Given the description of an element on the screen output the (x, y) to click on. 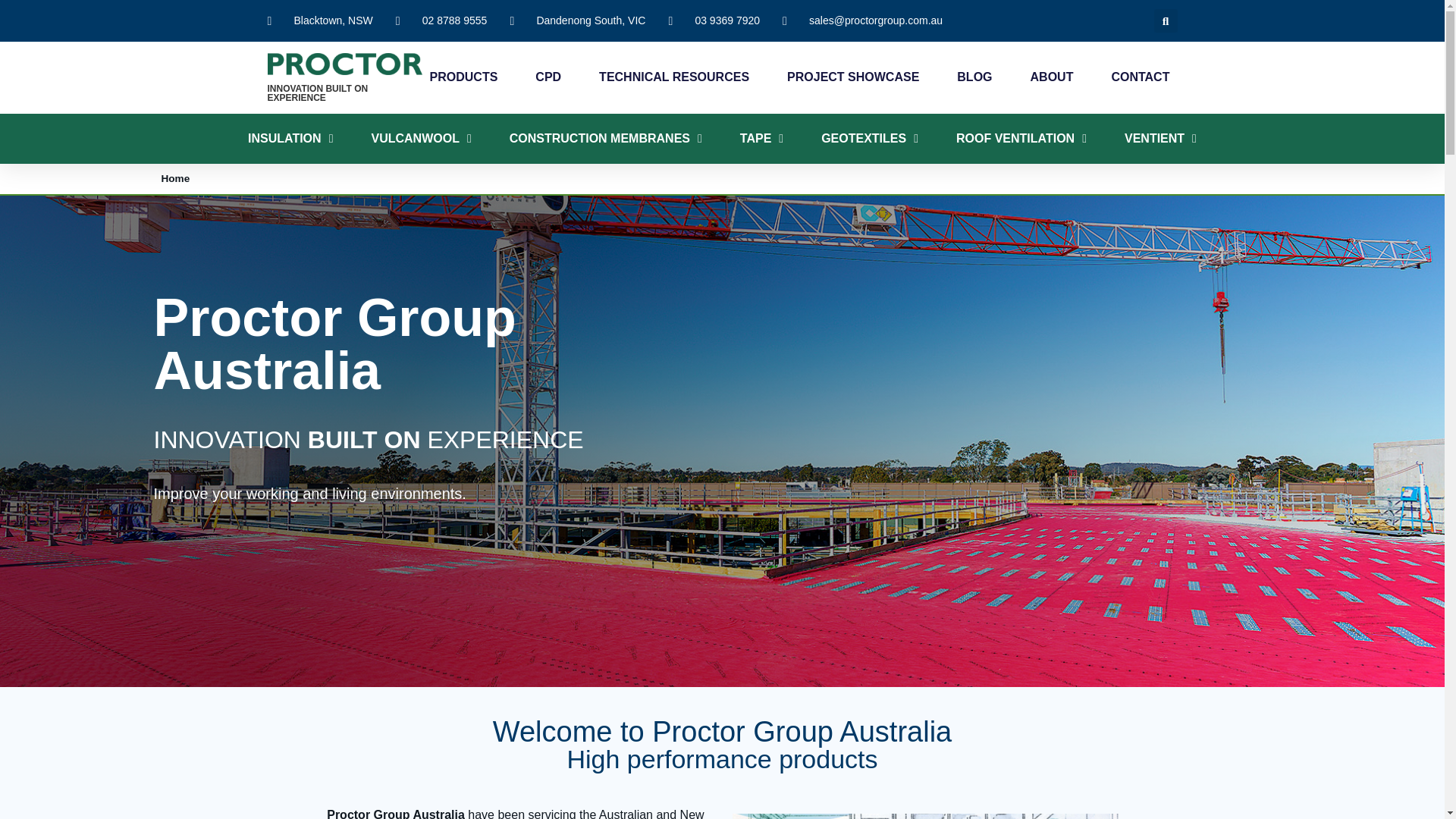
Dandenong South, VIC (577, 20)
03 9369 7920 (714, 20)
INSULATION (290, 138)
02 8788 9555 (441, 20)
BLOG (973, 77)
TECHNICAL RESOURCES (673, 77)
ABOUT (1052, 77)
CONTACT (1139, 77)
Blacktown, NSW (319, 20)
PRODUCTS (463, 77)
PROJECT SHOWCASE (852, 77)
